Given the description of an element on the screen output the (x, y) to click on. 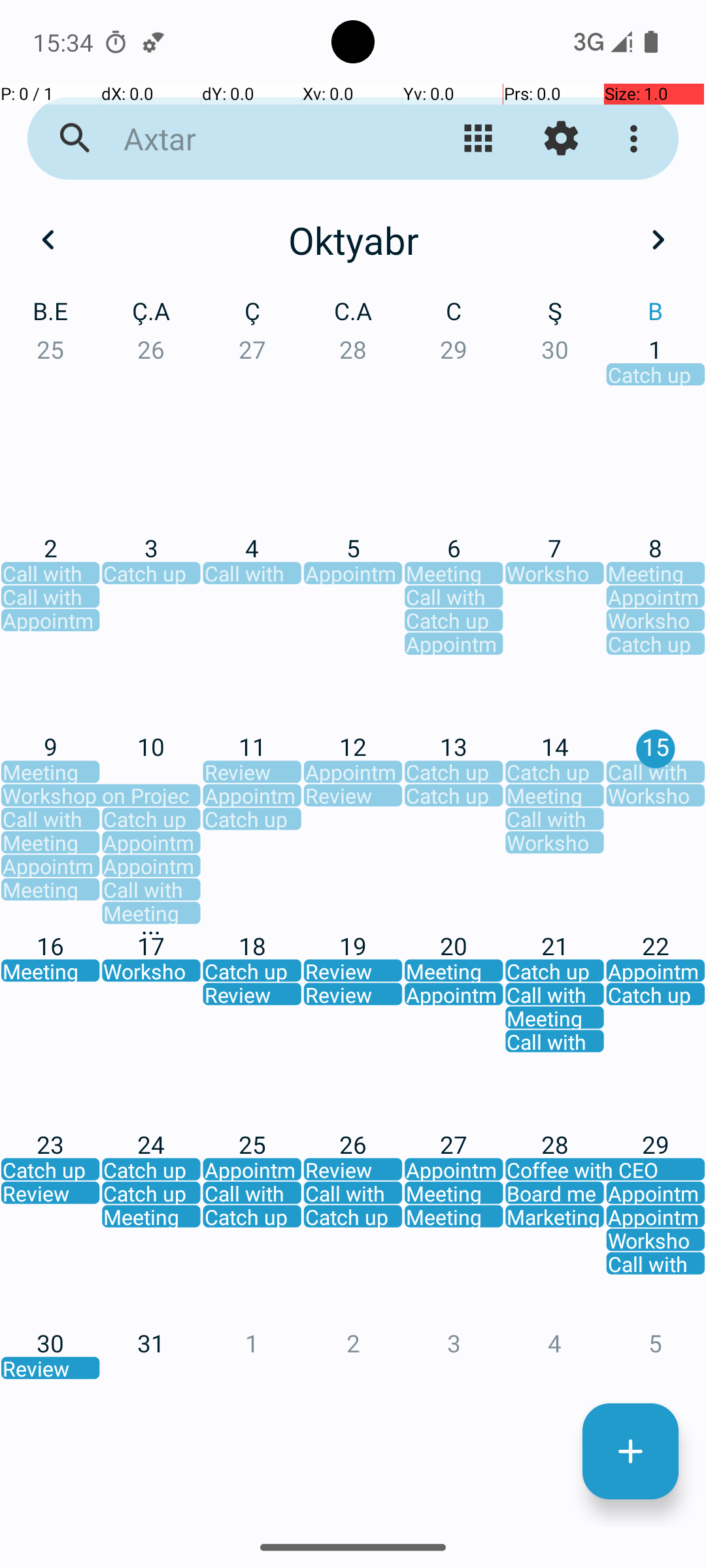
Axtar Element type: android.widget.EditText (252, 138)
Görünüşü dəyiş Element type: android.widget.Button (477, 138)
Parametrlər Element type: android.widget.Button (560, 138)
Digər seçimlər Element type: android.widget.ImageView (636, 138)
Yeni Hadisə Element type: android.widget.ImageButton (630, 1451)
Oktyabr Element type: android.widget.TextView (352, 239)
